Given the description of an element on the screen output the (x, y) to click on. 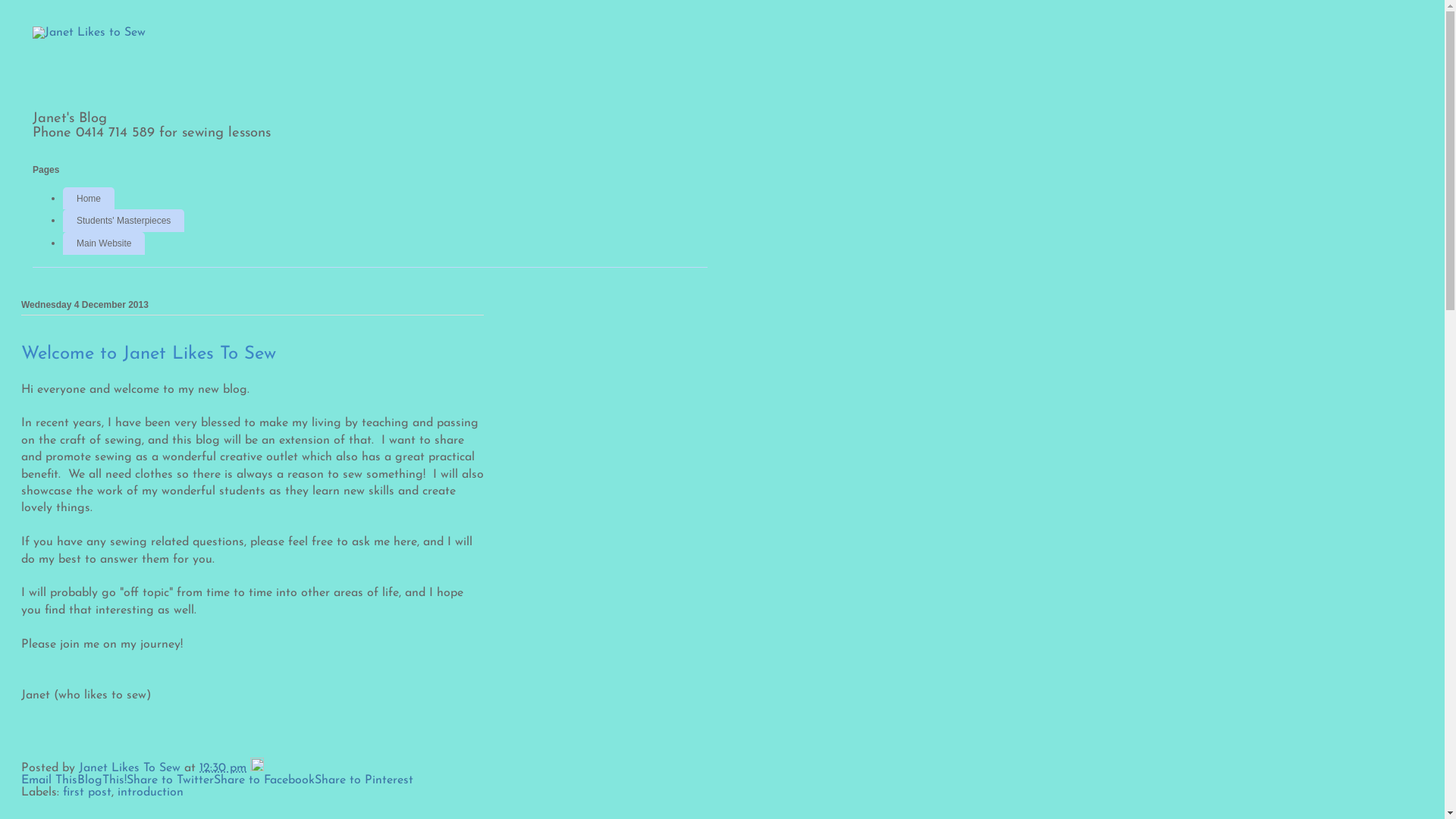
Students' Masterpieces Element type: text (123, 220)
Share to Pinterest Element type: text (363, 780)
BlogThis! Element type: text (101, 780)
Email This Element type: text (49, 780)
Home Element type: text (88, 198)
first post Element type: text (86, 792)
Edit Post Element type: hover (256, 768)
Share to Facebook Element type: text (263, 780)
Share to Twitter Element type: text (169, 780)
Janet Likes To Sew Element type: text (131, 768)
Main Website Element type: text (103, 243)
12:30 pm Element type: text (222, 768)
introduction Element type: text (150, 792)
